Given the description of an element on the screen output the (x, y) to click on. 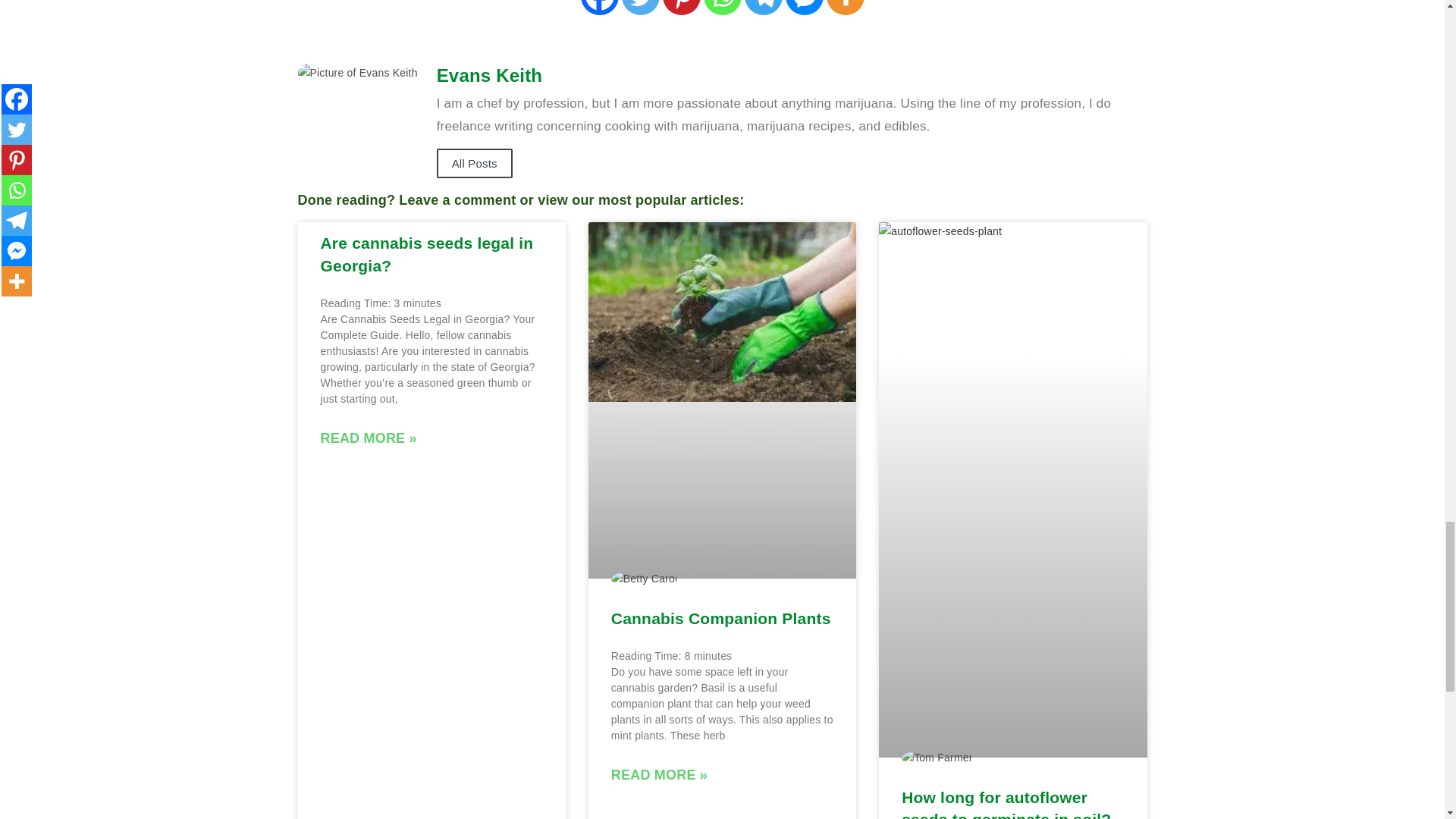
Telegram (763, 7)
Twitter (640, 7)
More (845, 7)
Facebook (599, 7)
Pinterest (681, 7)
Whatsapp (722, 7)
